Given the description of an element on the screen output the (x, y) to click on. 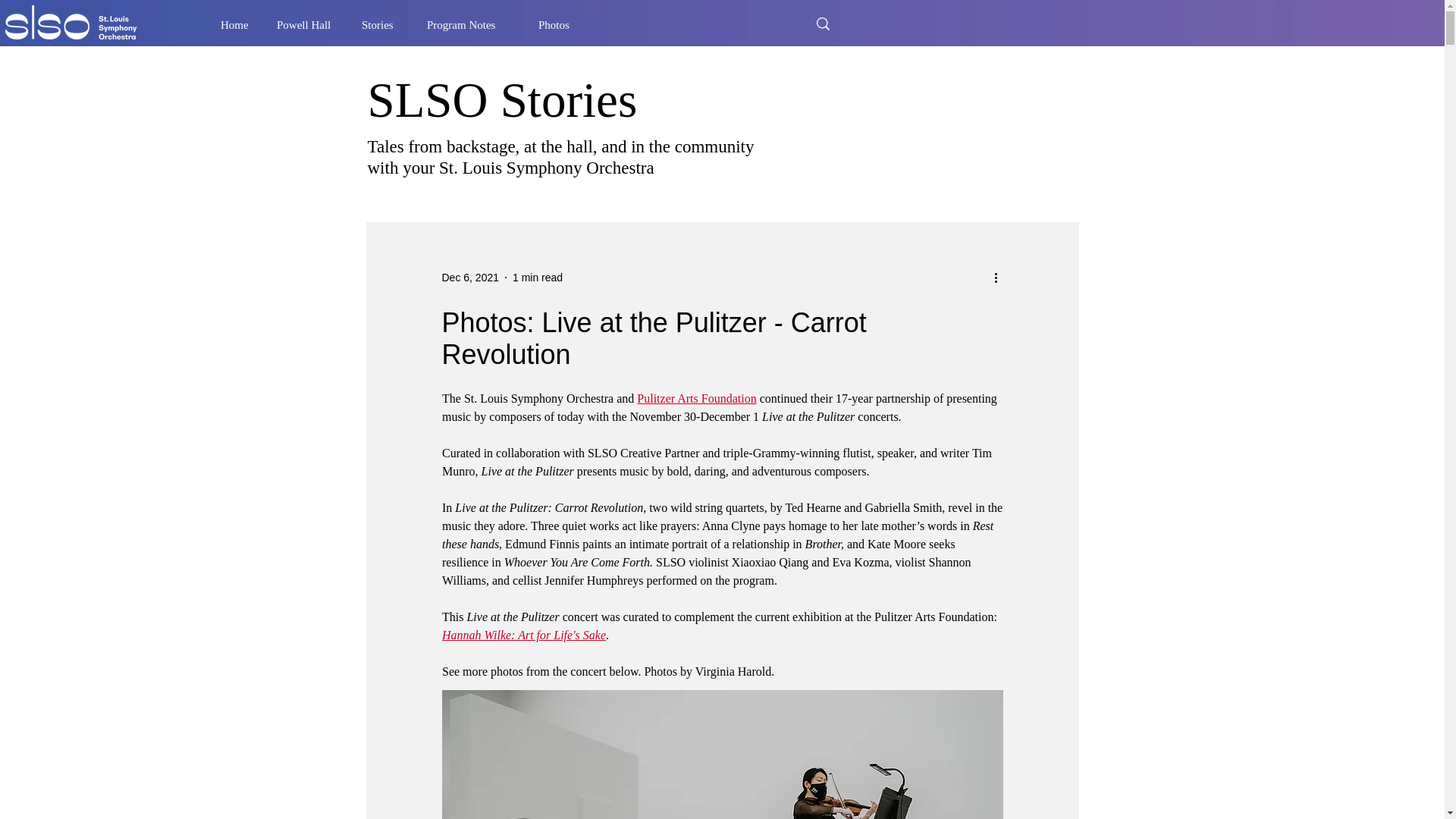
Powell Hall (307, 24)
Stories (382, 24)
Photos (559, 24)
Pulitzer Arts Foundation (696, 398)
1 min read (537, 277)
Dec 6, 2021 (470, 277)
Home (236, 24)
Program Notes (470, 24)
SLSO Stories (501, 99)
Hannah Wilke: Art for Life's Sake (523, 634)
